Given the description of an element on the screen output the (x, y) to click on. 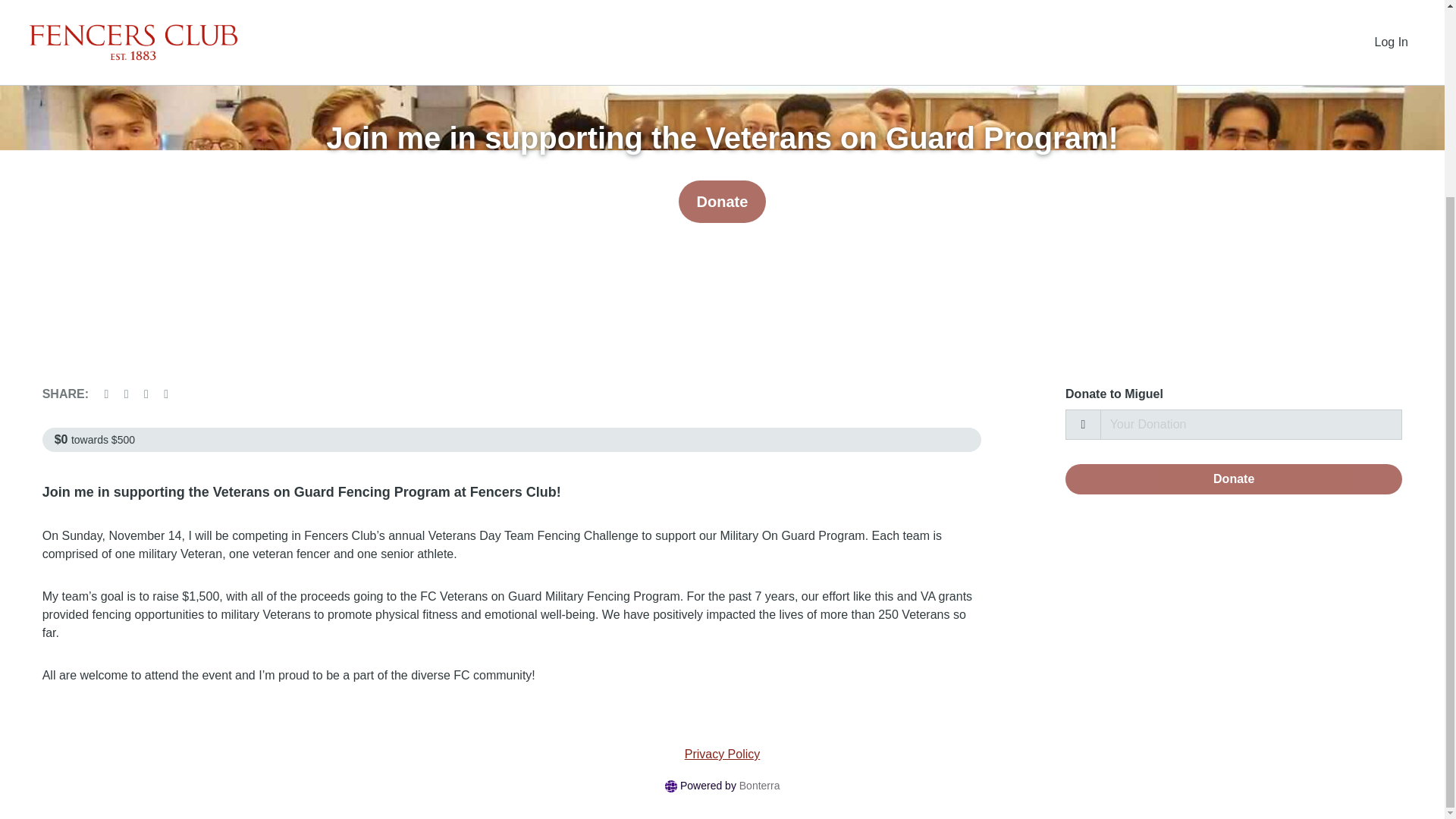
Powered by Bonterra (720, 785)
Donate (1233, 479)
Privacy Policy (722, 754)
Donate (722, 201)
Powered by Bonterra (720, 785)
